Given the description of an element on the screen output the (x, y) to click on. 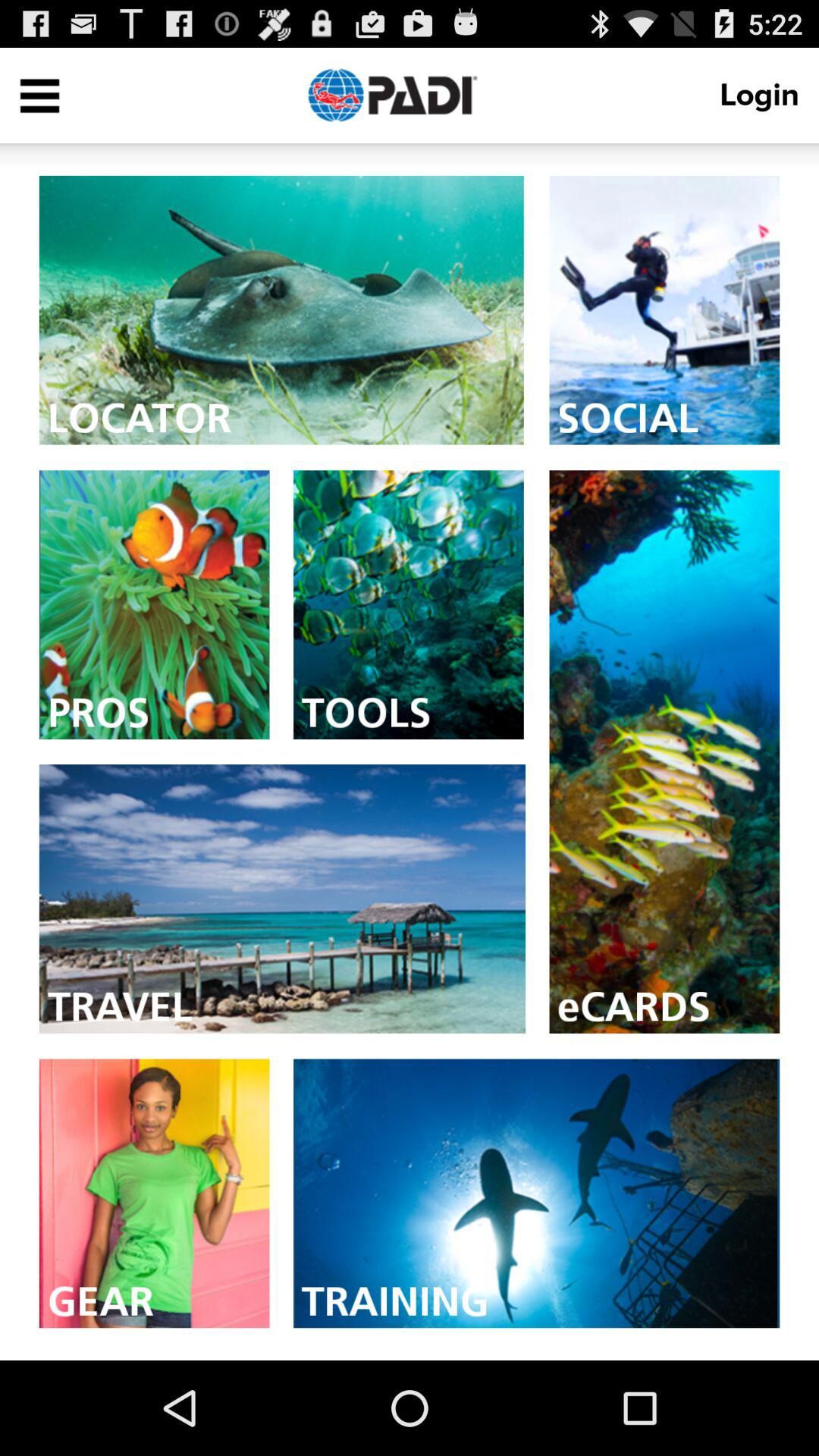
select travel (282, 898)
